Given the description of an element on the screen output the (x, y) to click on. 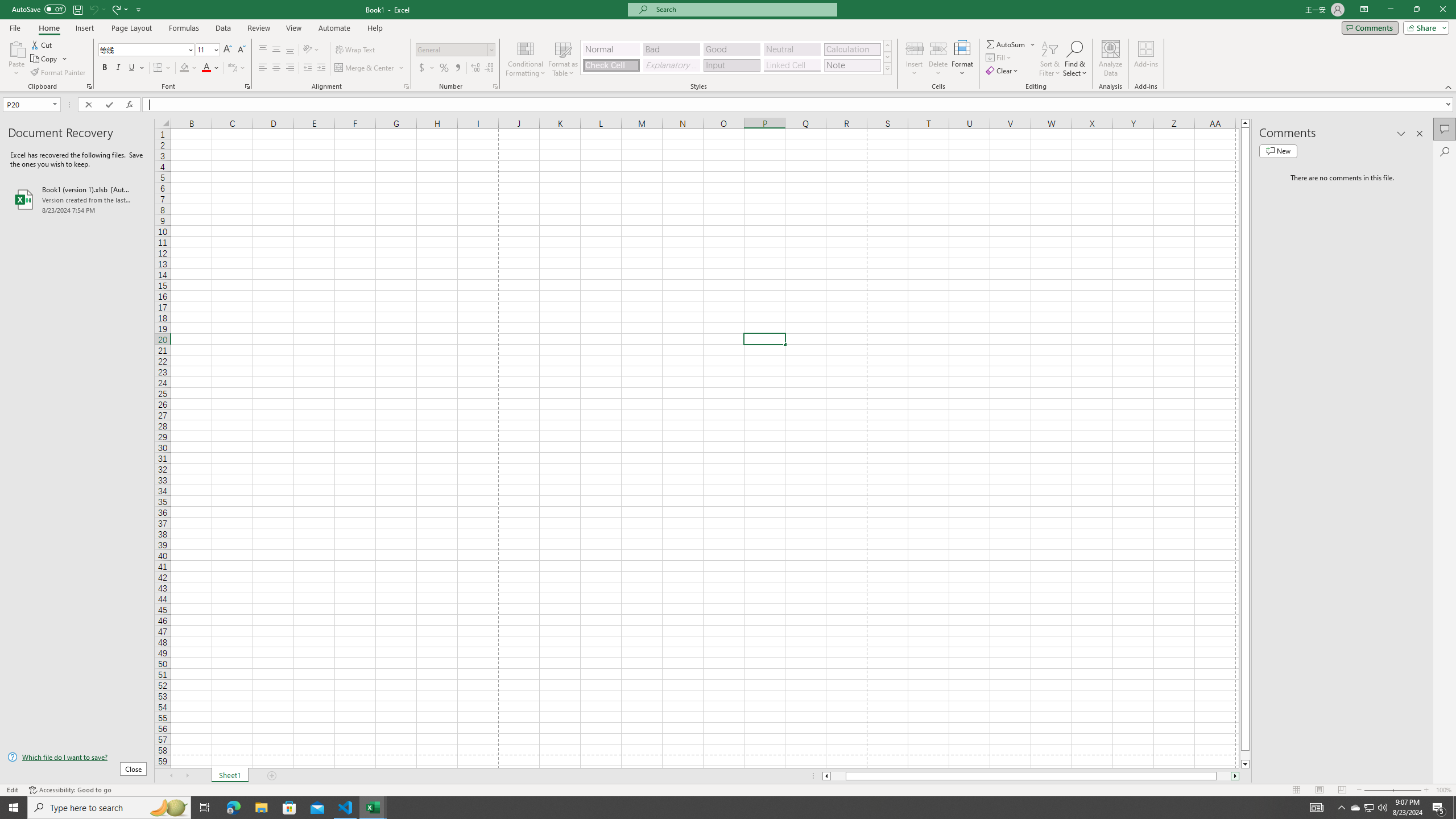
Cut (42, 44)
Neutral (791, 49)
Format Cell Number (494, 85)
Middle Align (276, 49)
Underline (136, 67)
Increase Font Size (227, 49)
Align Right (290, 67)
Show Phonetic Field (236, 67)
